Given the description of an element on the screen output the (x, y) to click on. 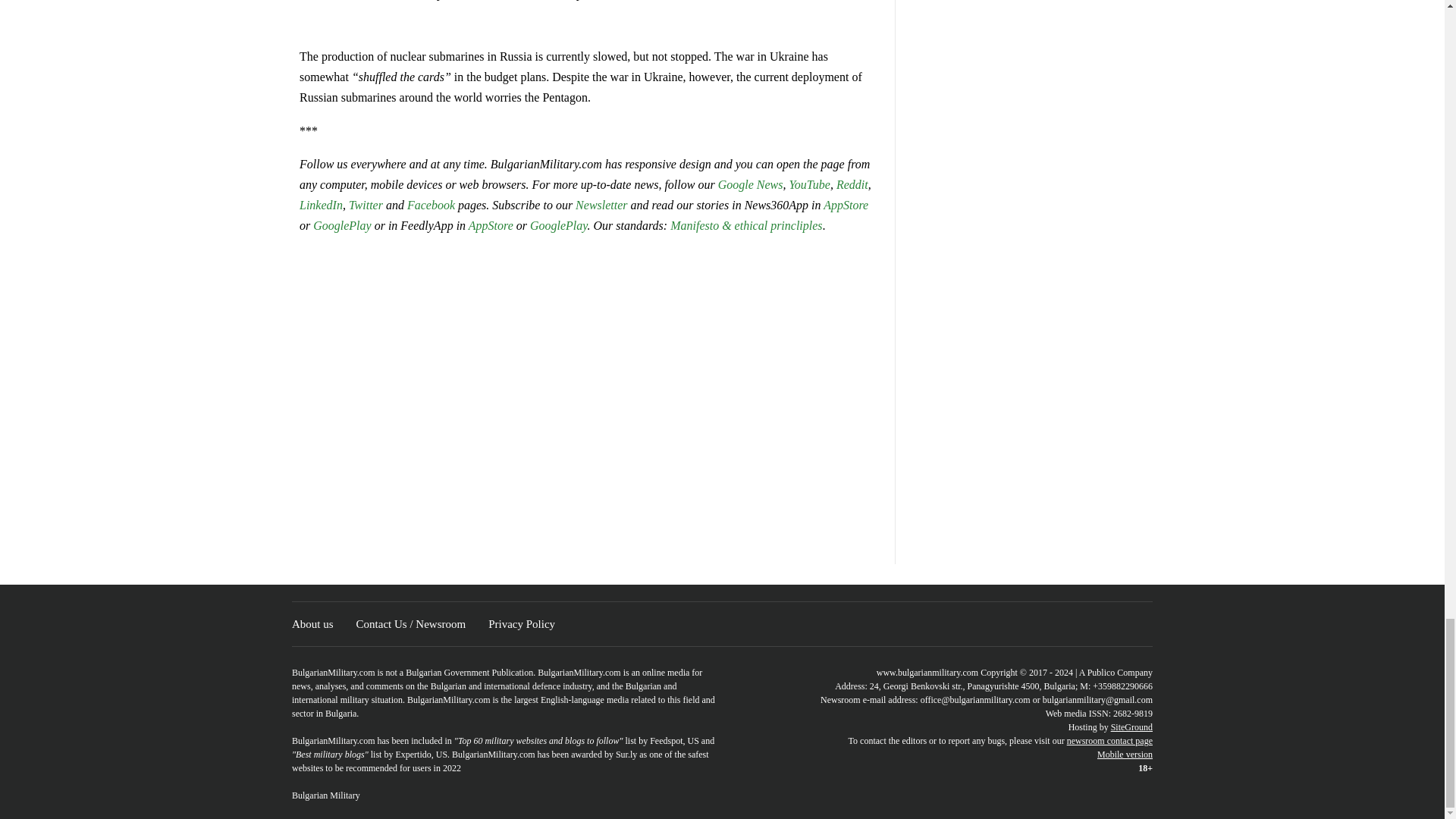
LinkedIn (320, 205)
YouTube (809, 184)
Facebook (430, 205)
Google News (750, 184)
Newsletter (601, 205)
Reddit (851, 184)
Twitter (367, 205)
GooglePlay (342, 225)
AppStore (845, 205)
AppStore (490, 225)
